Given the description of an element on the screen output the (x, y) to click on. 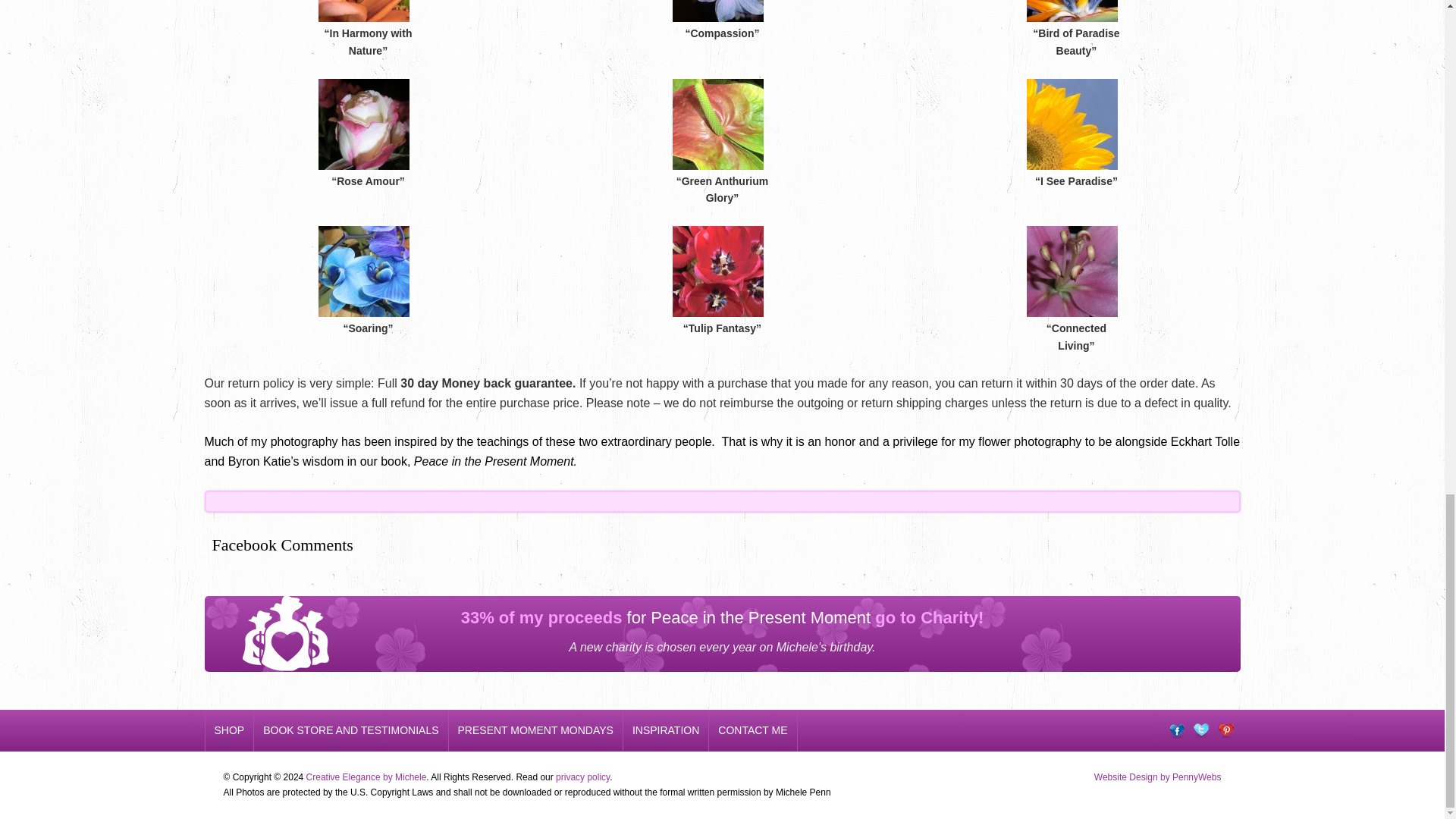
Title -Green Anthirium Glory Limited Edition of 33 (717, 162)
Peace in the Present Moment. (494, 461)
Peace in the Present Moment book (494, 461)
I See Paradise Limited edition 3 of 33 (1072, 162)
SHOP (229, 730)
BOOK STORE AND TESTIMONIALS (350, 730)
Creative Elegance by Michele Penn (365, 777)
